Given the description of an element on the screen output the (x, y) to click on. 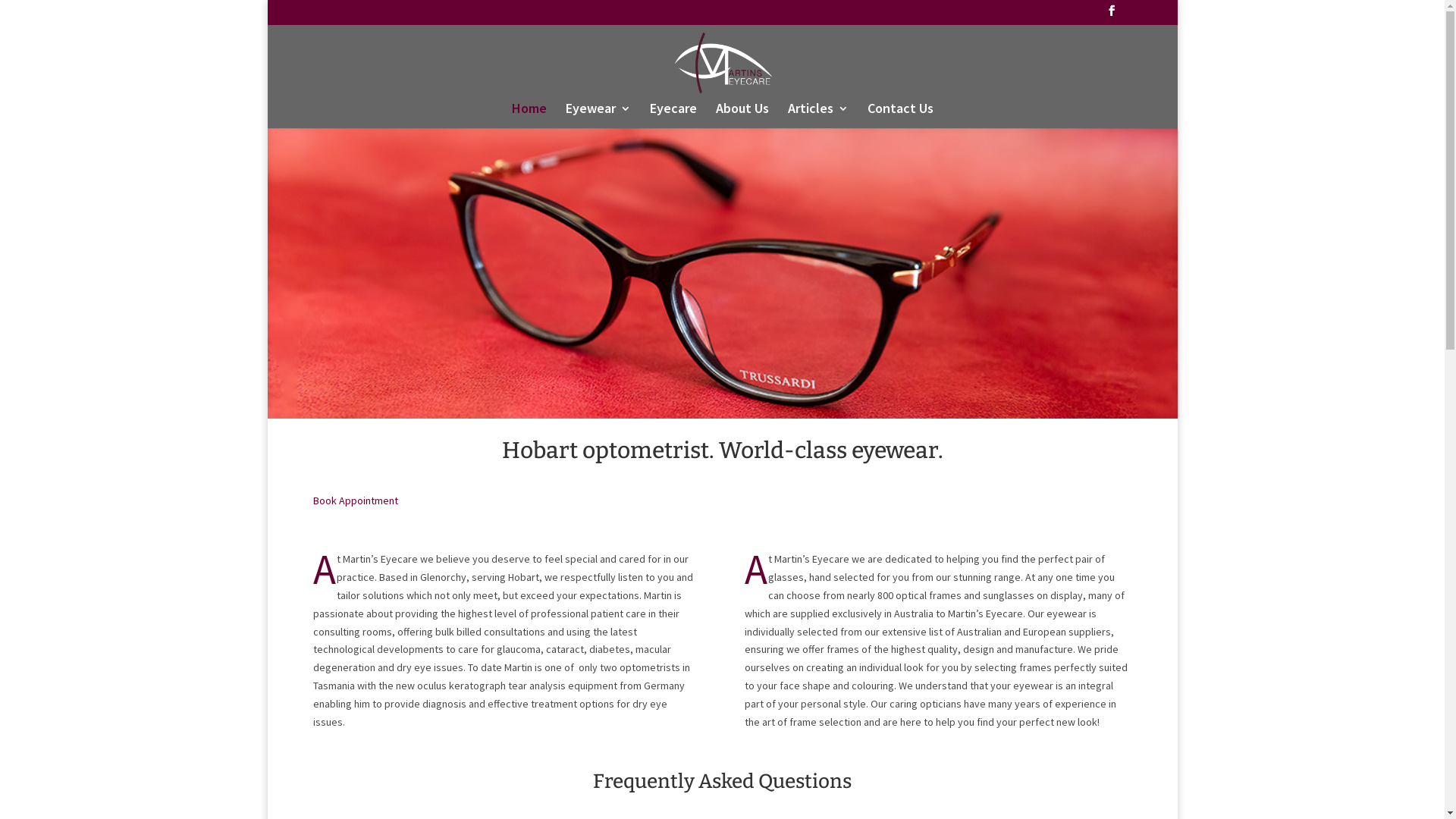
About Us Element type: text (741, 115)
Eyecare Element type: text (672, 115)
Contact Us Element type: text (900, 115)
Eyewear Element type: text (597, 115)
Articles Element type: text (817, 115)
Home Element type: text (528, 115)
Book Appointment Element type: text (354, 500)
